Given the description of an element on the screen output the (x, y) to click on. 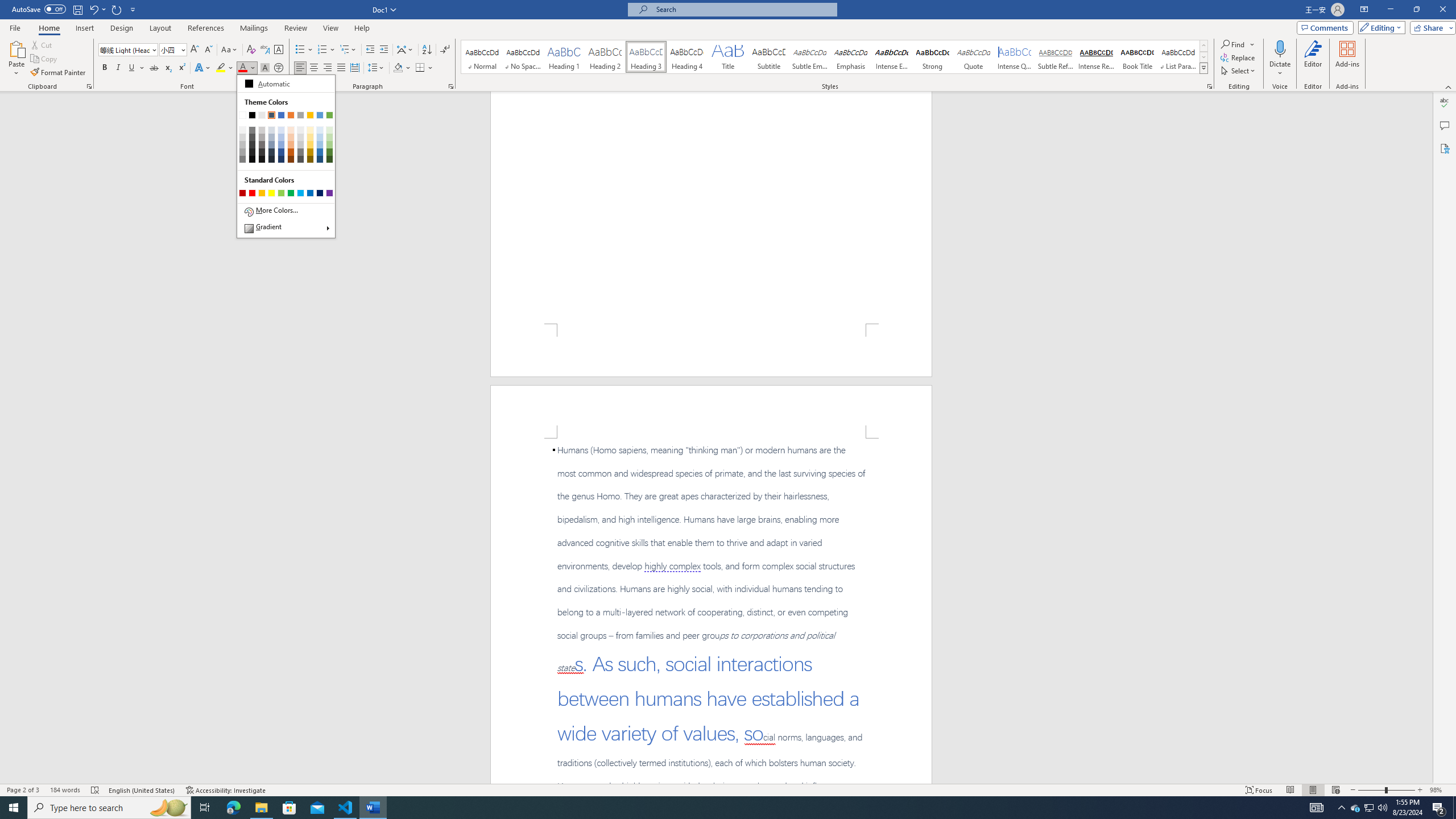
Asian Layout (405, 49)
Emphasis (849, 56)
Shading RGB(0, 0, 0) (397, 67)
Intense Reference (1095, 56)
Heading 3 (646, 56)
Collapse the Ribbon (1448, 86)
Read Mode (1290, 790)
Change Case (229, 49)
Heading 2 (605, 56)
Underline (136, 67)
Undo Apply Quick Style (92, 9)
Heading 4 (686, 56)
Microsoft search (742, 9)
Mailings (253, 28)
Task View (204, 807)
